Given the description of an element on the screen output the (x, y) to click on. 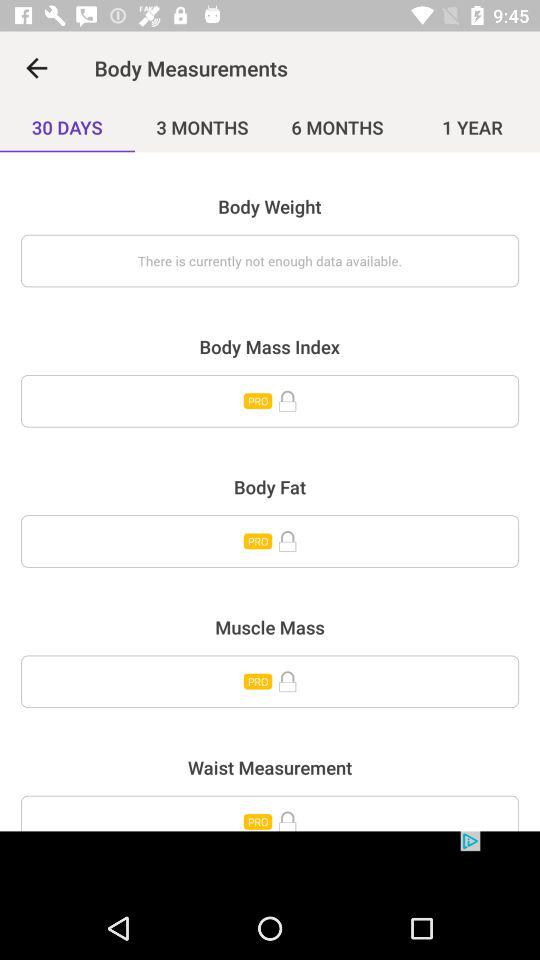
click to unlock waist measurement (269, 813)
